Given the description of an element on the screen output the (x, y) to click on. 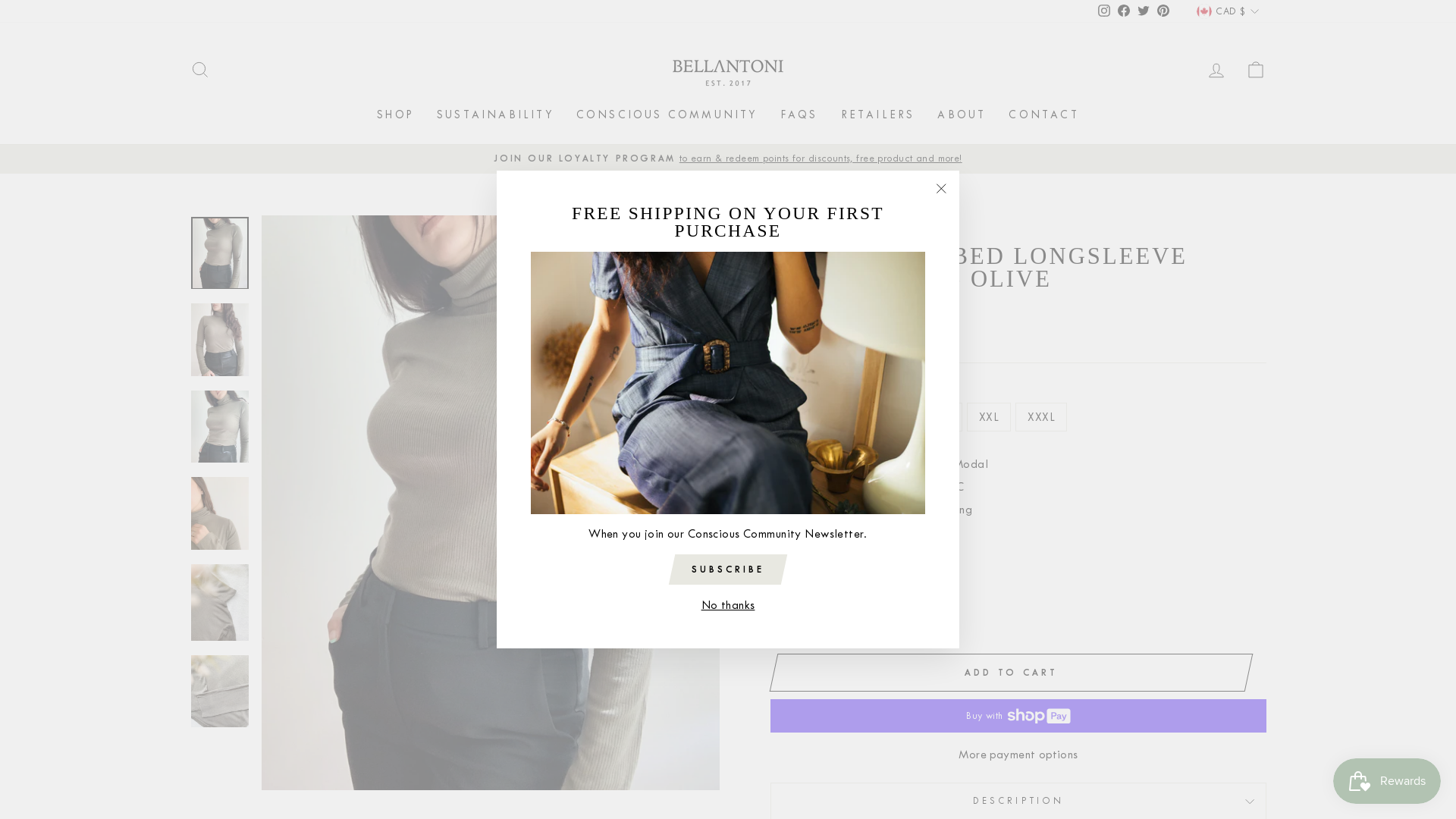
Pinterest Element type: text (1163, 11)
ABOUT Element type: text (961, 114)
SUSTAINABILITY Element type: text (494, 114)
CONTACT Element type: text (1043, 114)
Skip to content Element type: text (0, 0)
FAQS Element type: text (798, 114)
Facebook Element type: text (1123, 11)
RETAILERS Element type: text (877, 114)
No thanks Element type: text (727, 605)
SUBSCRIBE Element type: text (727, 569)
+ Element type: text (819, 594)
Shipping Element type: text (789, 336)
"Close (esc)" Element type: text (940, 188)
SHOP Element type: text (395, 114)
More payment options Element type: text (1018, 754)
ADD TO CART Element type: text (1011, 672)
Home Element type: text (783, 229)
CART Element type: text (1255, 69)
SEARCH Element type: text (199, 69)
CONSCIOUS COMMUNITY Element type: text (666, 114)
CAD $ Element type: text (1227, 11)
LOG IN Element type: text (1216, 69)
Twitter Element type: text (1143, 11)
Smile.io Rewards Program Launcher Element type: hover (1386, 780)
Instagram Element type: text (1103, 11)
